Given the description of an element on the screen output the (x, y) to click on. 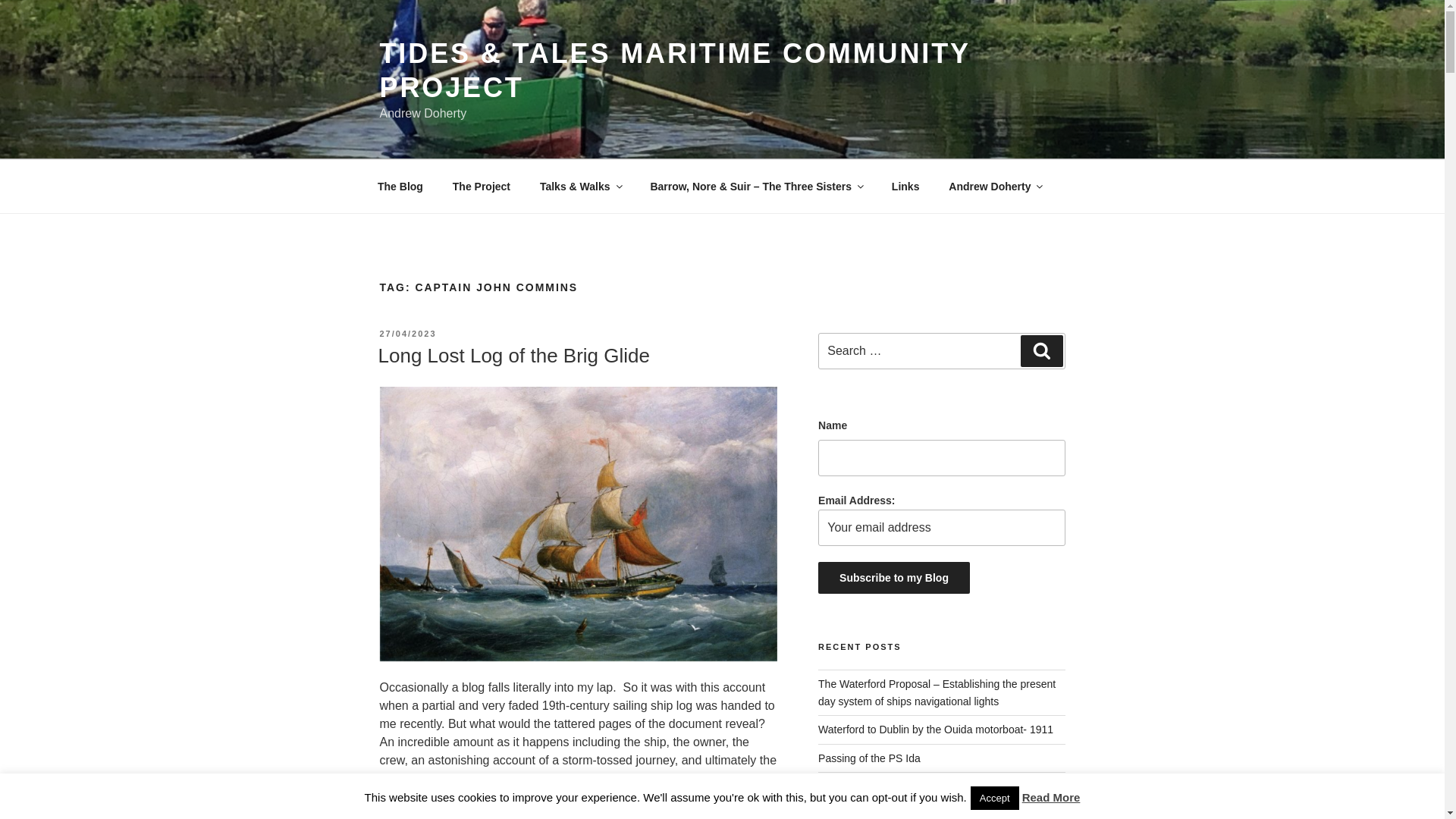
The Blog (399, 186)
Subscribe to my Blog (893, 577)
The Project (480, 186)
Andrew Doherty (995, 186)
Long Lost Log of the Brig Glide (513, 354)
Links (905, 186)
